Given the description of an element on the screen output the (x, y) to click on. 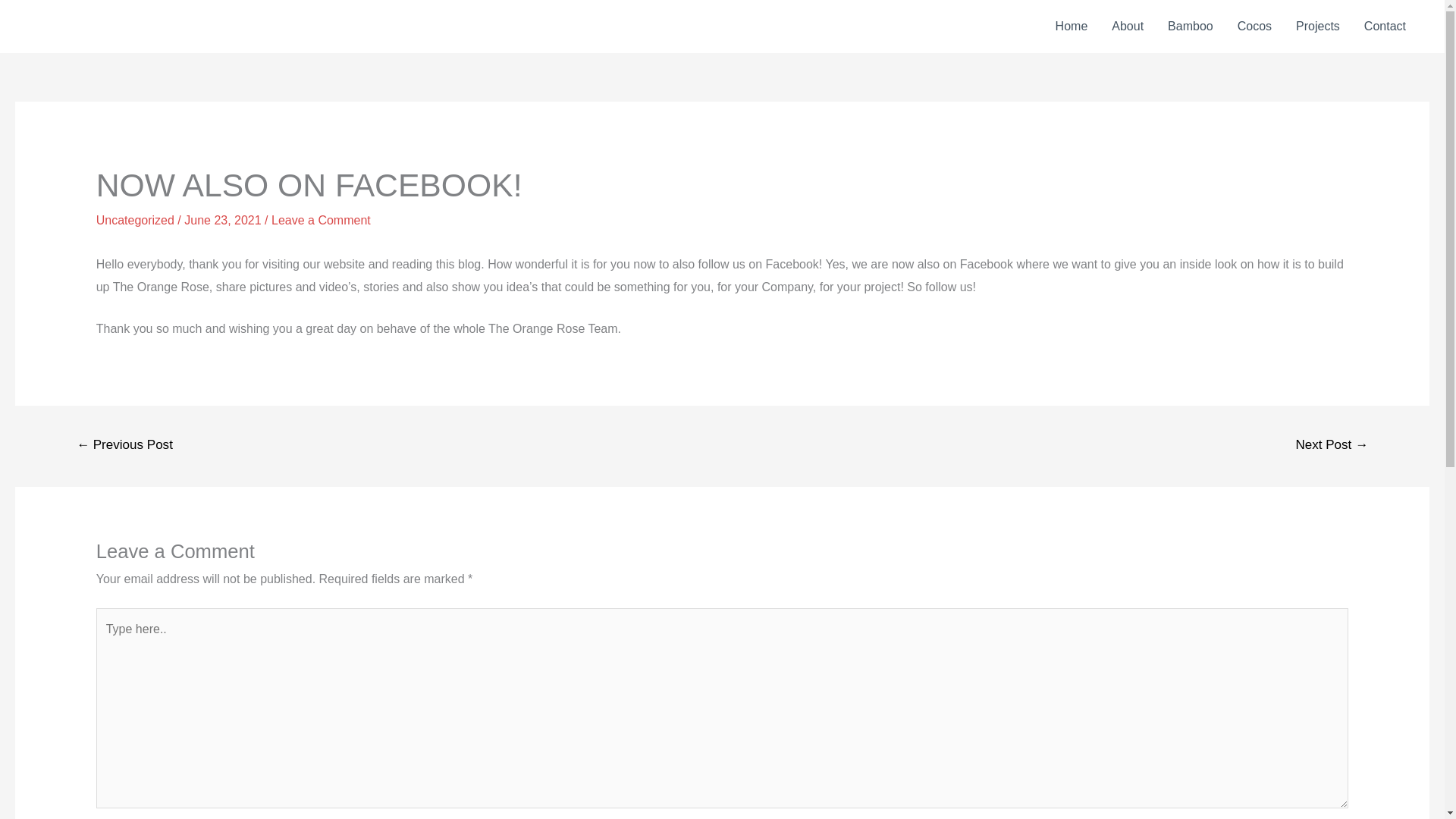
Bamboo (1190, 26)
About (1127, 26)
Uncategorized (135, 219)
Leave a Comment (320, 219)
Contact (1385, 26)
Cocos (1254, 26)
Projects (1318, 26)
Home (1071, 26)
